Given the description of an element on the screen output the (x, y) to click on. 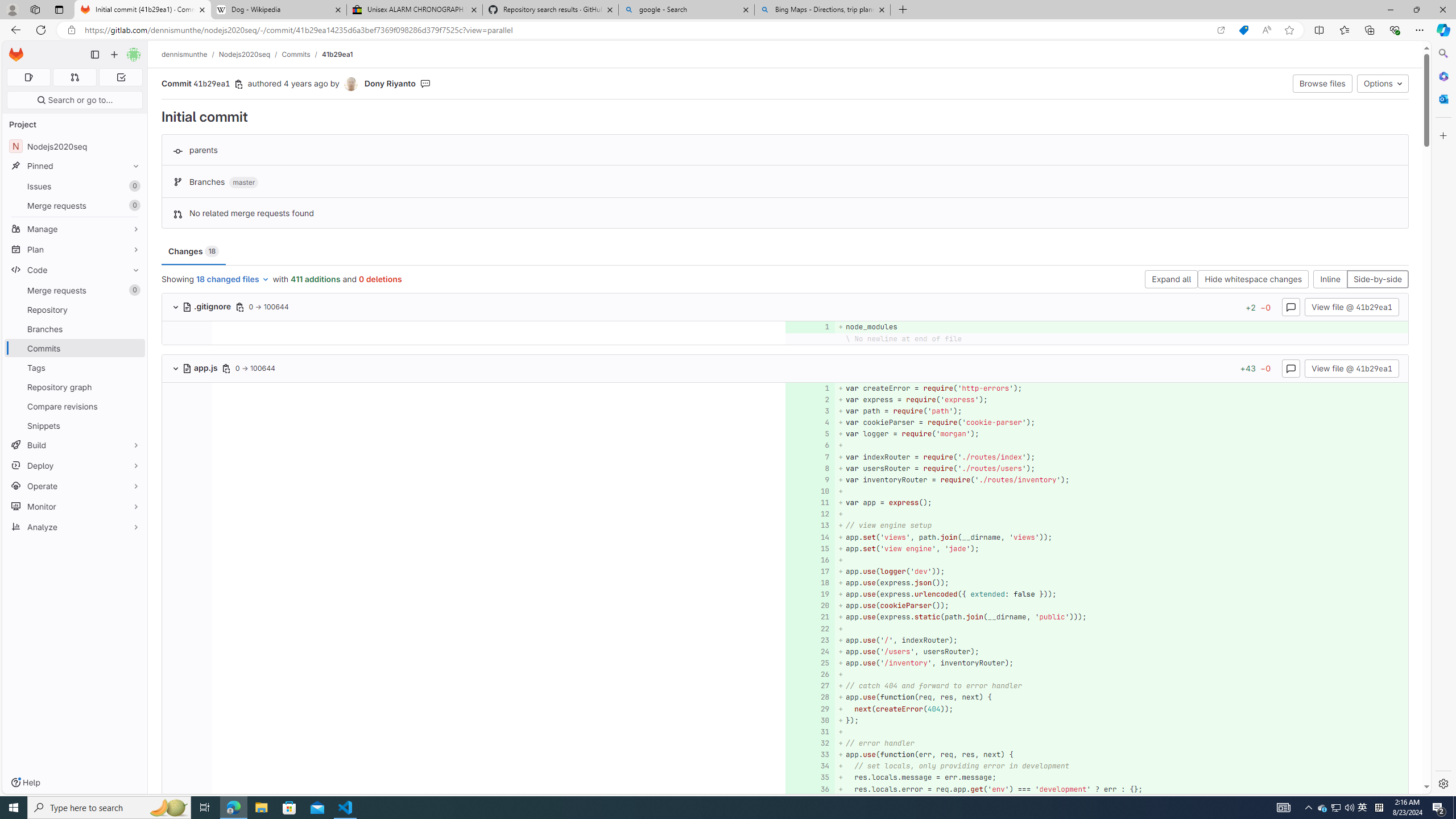
Class: s16 chevron-down (175, 368)
25 (808, 663)
Manage (74, 228)
Add a comment to this line 1 (809, 387)
10 (808, 490)
Pin Branches (132, 328)
Add a comment to this line 10 (809, 490)
17 (808, 571)
Code (74, 269)
Repository graph (74, 386)
Add a comment to this line (806, 789)
5 (808, 434)
Add a comment to this line 12 (809, 514)
